Given the description of an element on the screen output the (x, y) to click on. 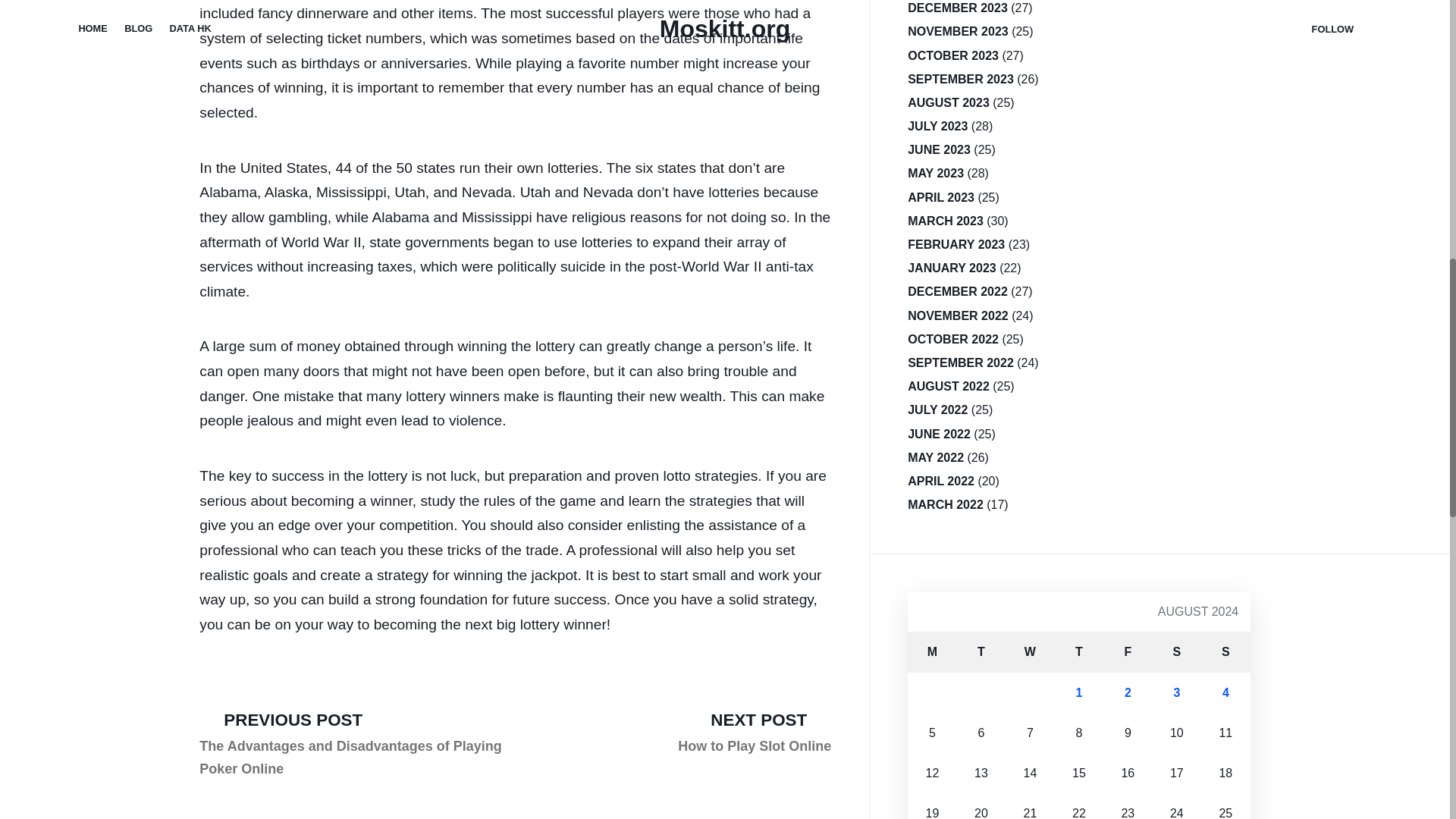
DECEMBER 2023 (754, 731)
Thursday (957, 9)
JUNE 2023 (1078, 651)
JULY 2023 (939, 149)
Saturday (937, 126)
NOVEMBER 2023 (1177, 651)
AUGUST 2023 (958, 31)
Friday (948, 102)
Monday (1127, 651)
Sunday (931, 651)
Tuesday (1225, 651)
OCTOBER 2023 (981, 651)
SEPTEMBER 2023 (952, 55)
